Given the description of an element on the screen output the (x, y) to click on. 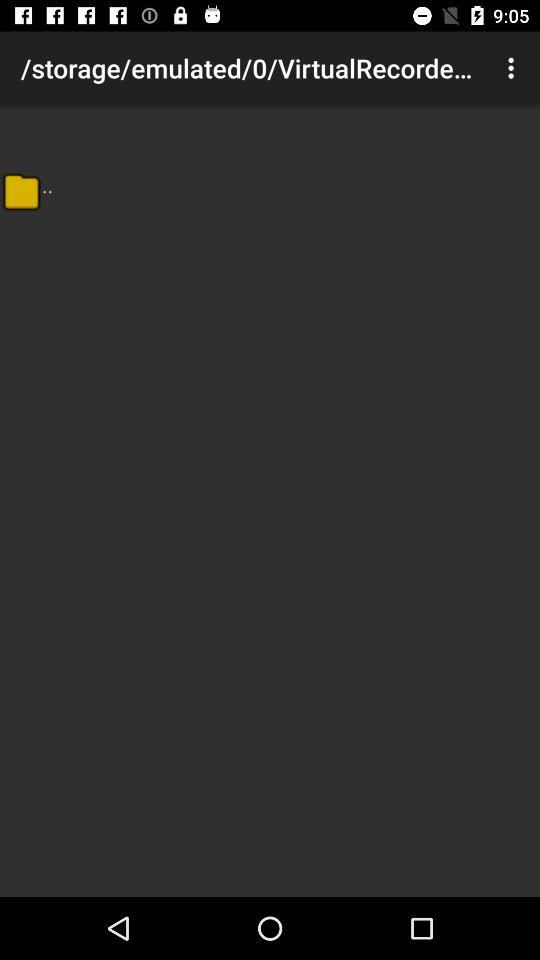
select the item below storage emulated 0 app (47, 184)
